Given the description of an element on the screen output the (x, y) to click on. 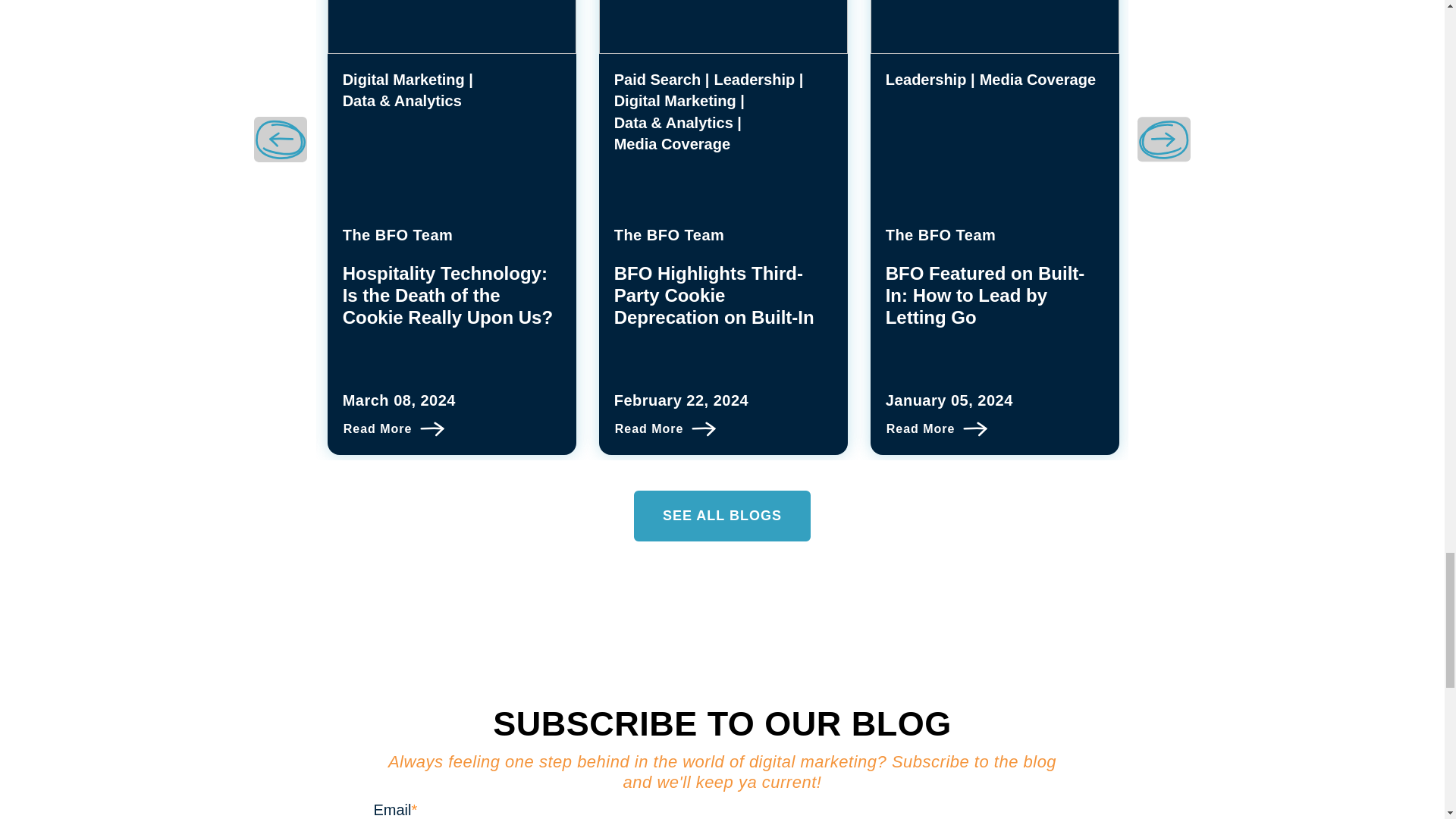
SEE ALL BLOGS (721, 515)
